Given the description of an element on the screen output the (x, y) to click on. 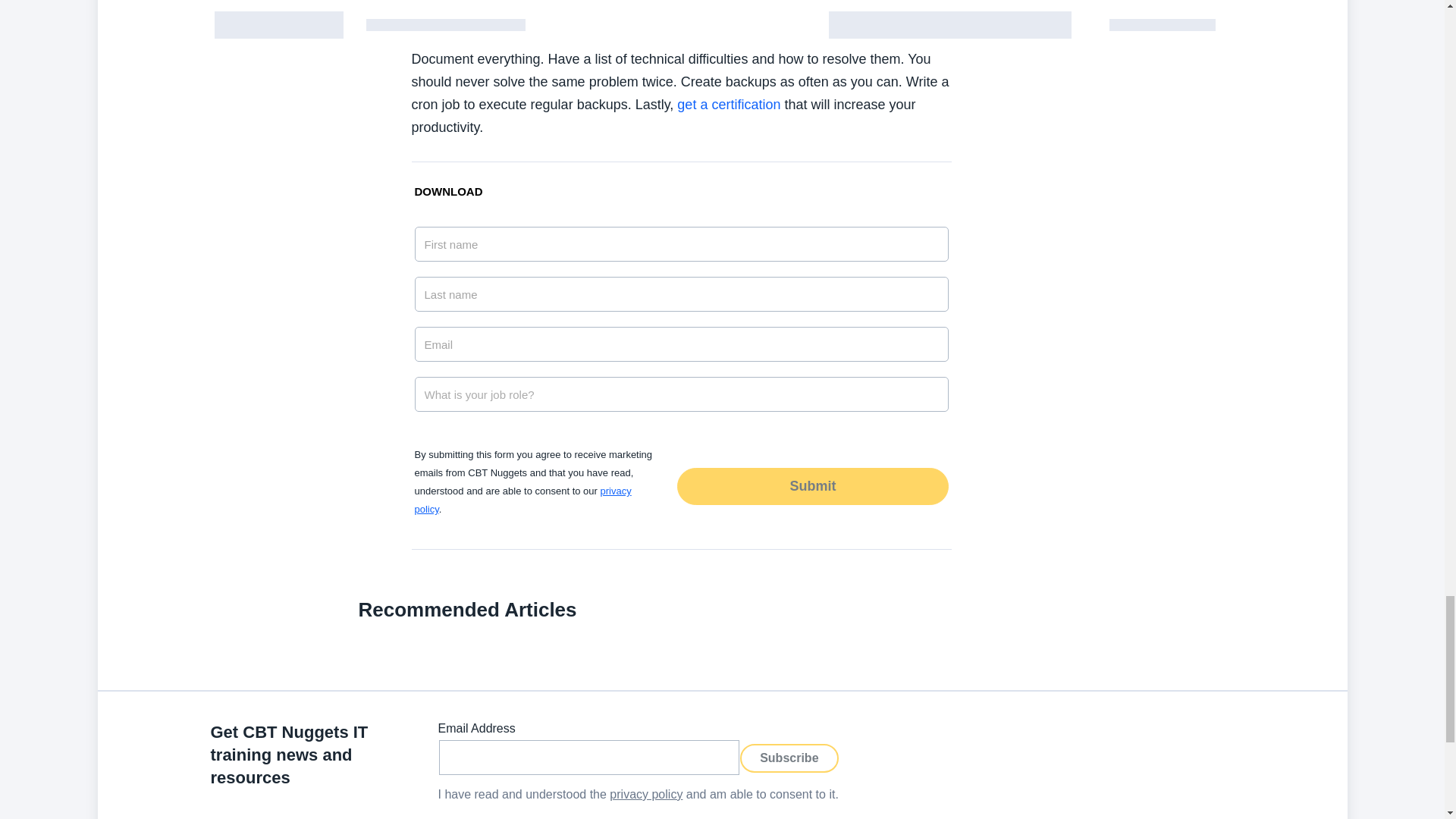
Subscribe (788, 757)
get a certification (728, 104)
privacy policy (646, 793)
privacy policy (521, 500)
Submit (812, 485)
